Given the description of an element on the screen output the (x, y) to click on. 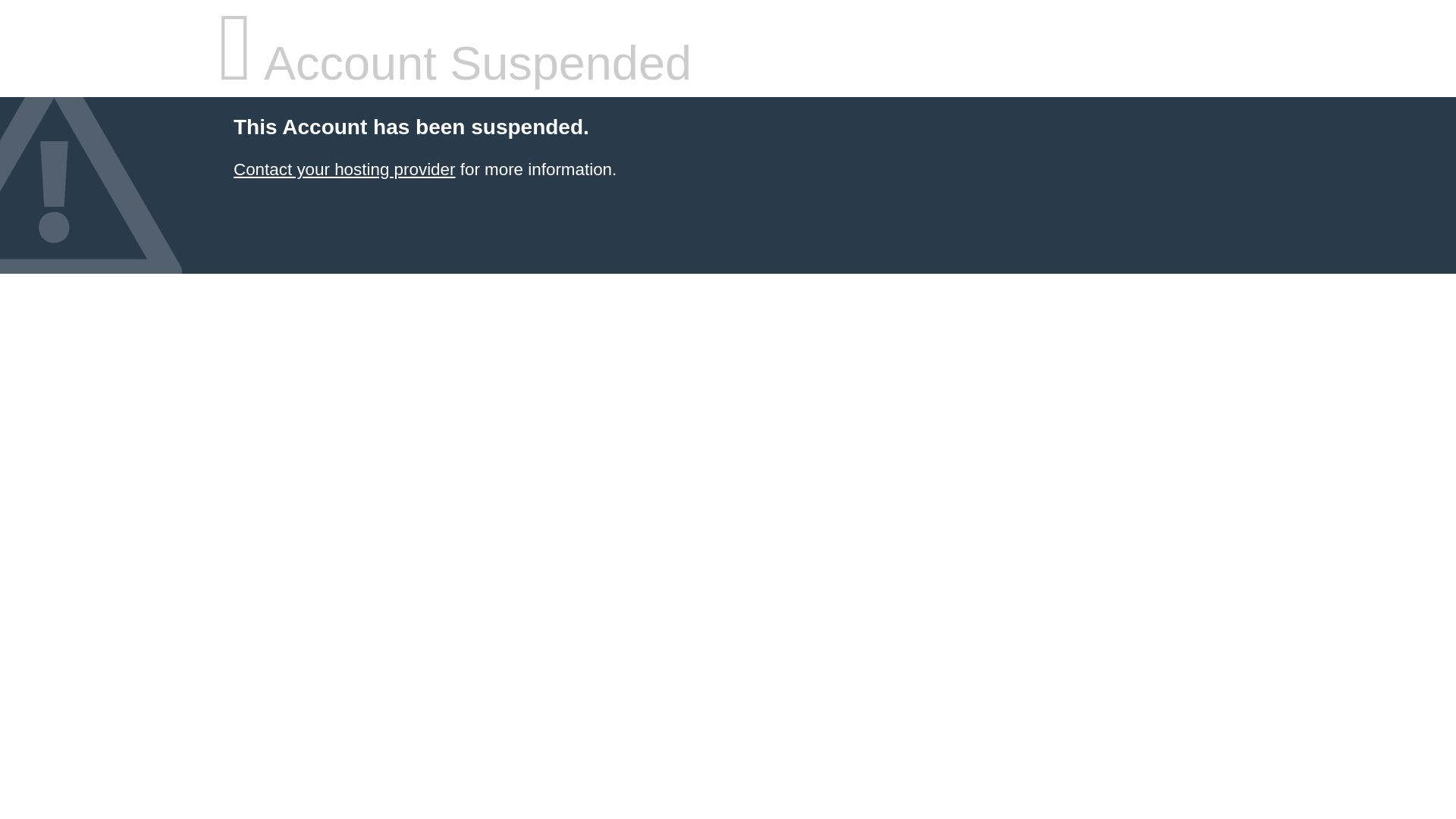
Contact your hosting provider Element type: text (344, 169)
